Given the description of an element on the screen output the (x, y) to click on. 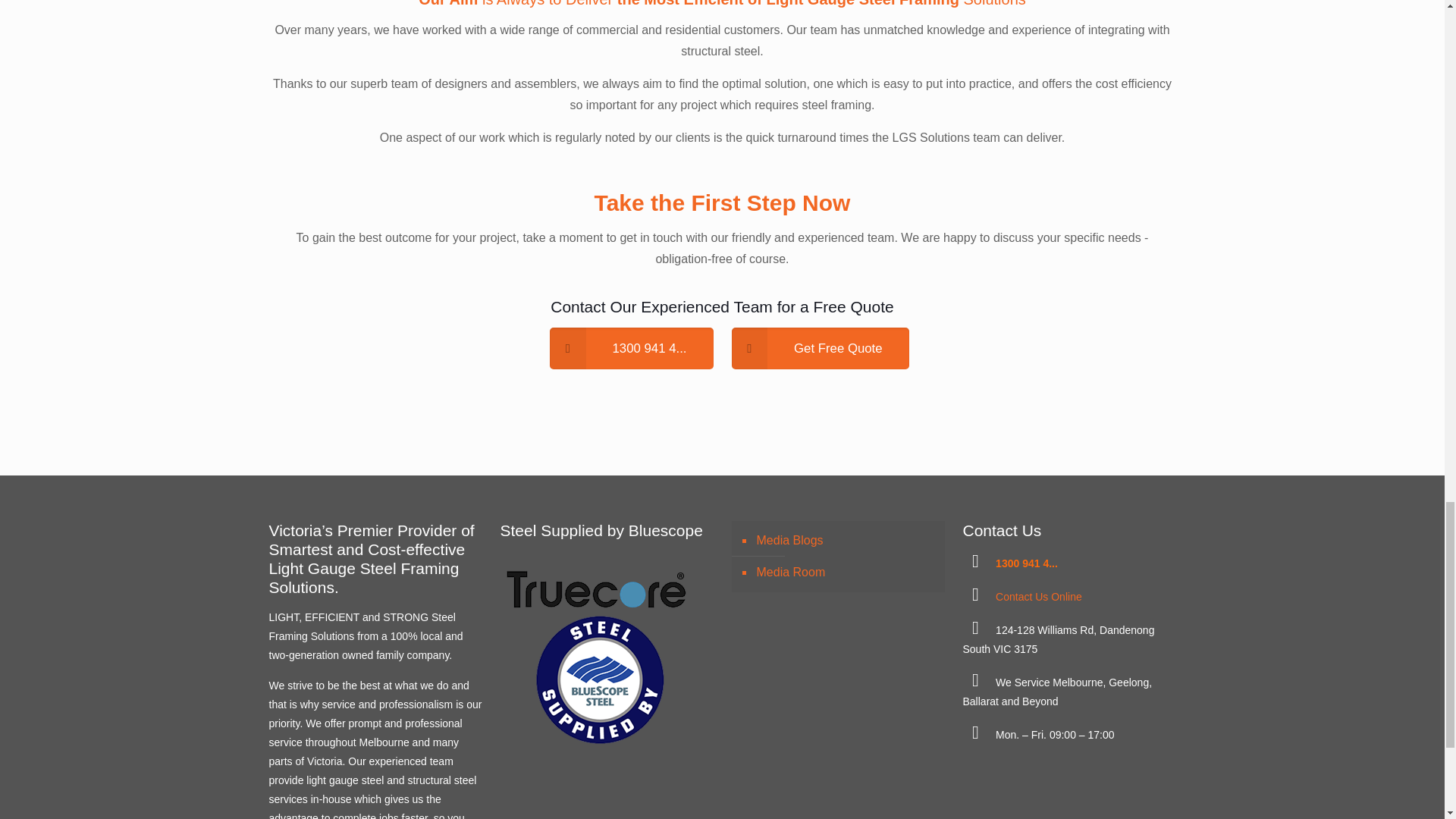
Get Free Quote (819, 348)
1300 941 4... (631, 348)
